Given the description of an element on the screen output the (x, y) to click on. 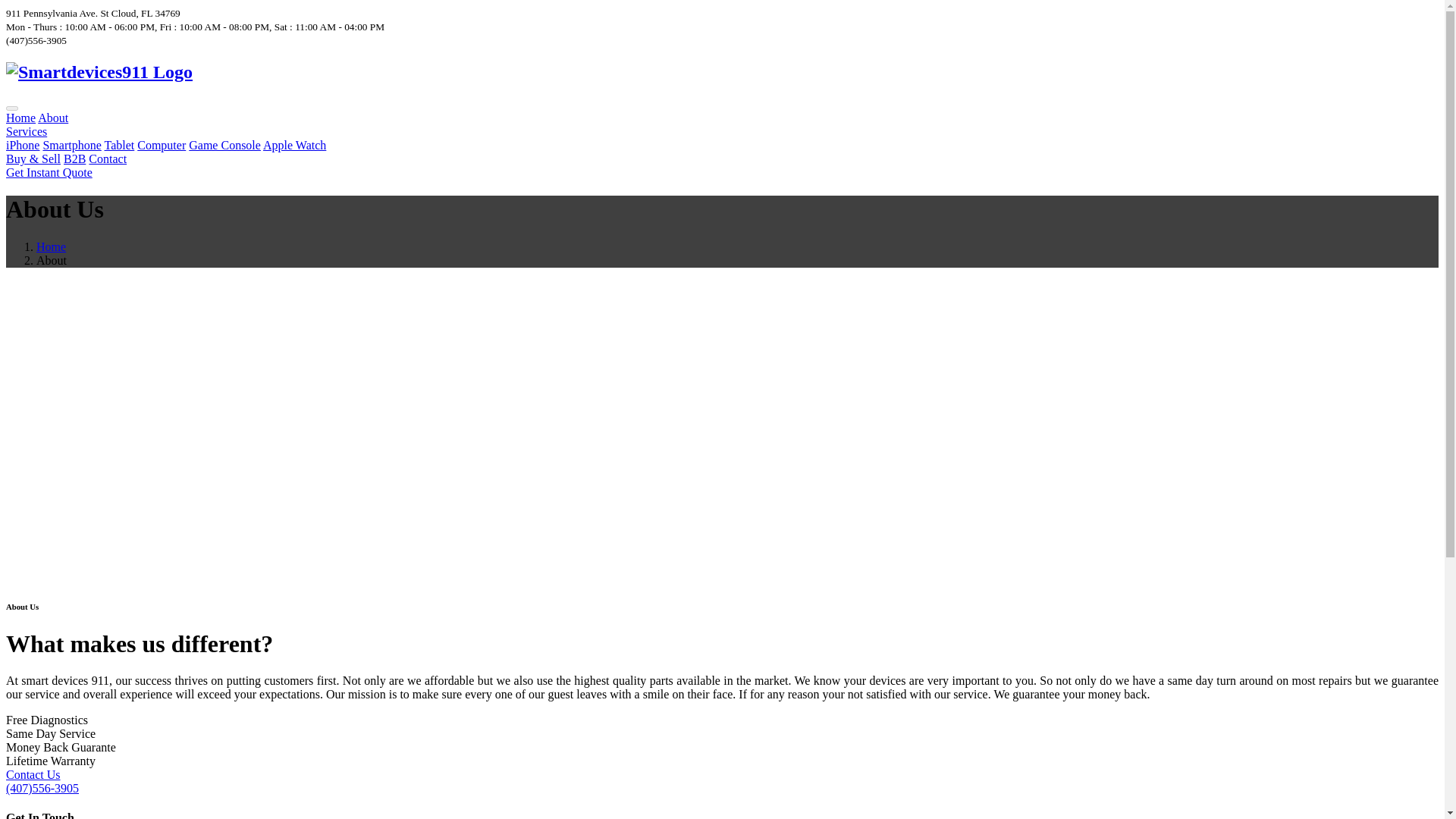
Services (25, 131)
Game Console (224, 144)
Get Instant Quote (49, 172)
Home (50, 246)
Contact Us (33, 774)
Smartphone (71, 144)
Home (19, 117)
Tablet (119, 144)
Apple Watch (294, 144)
Computer (161, 144)
About (52, 117)
iPhone (22, 144)
Contact (107, 158)
B2B (74, 158)
